Given the description of an element on the screen output the (x, y) to click on. 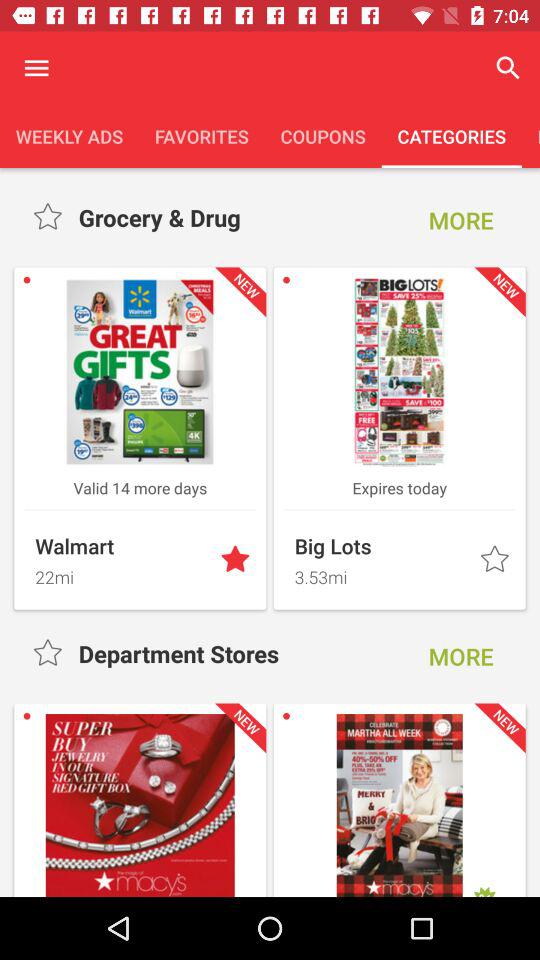
save category (49, 653)
